Given the description of an element on the screen output the (x, y) to click on. 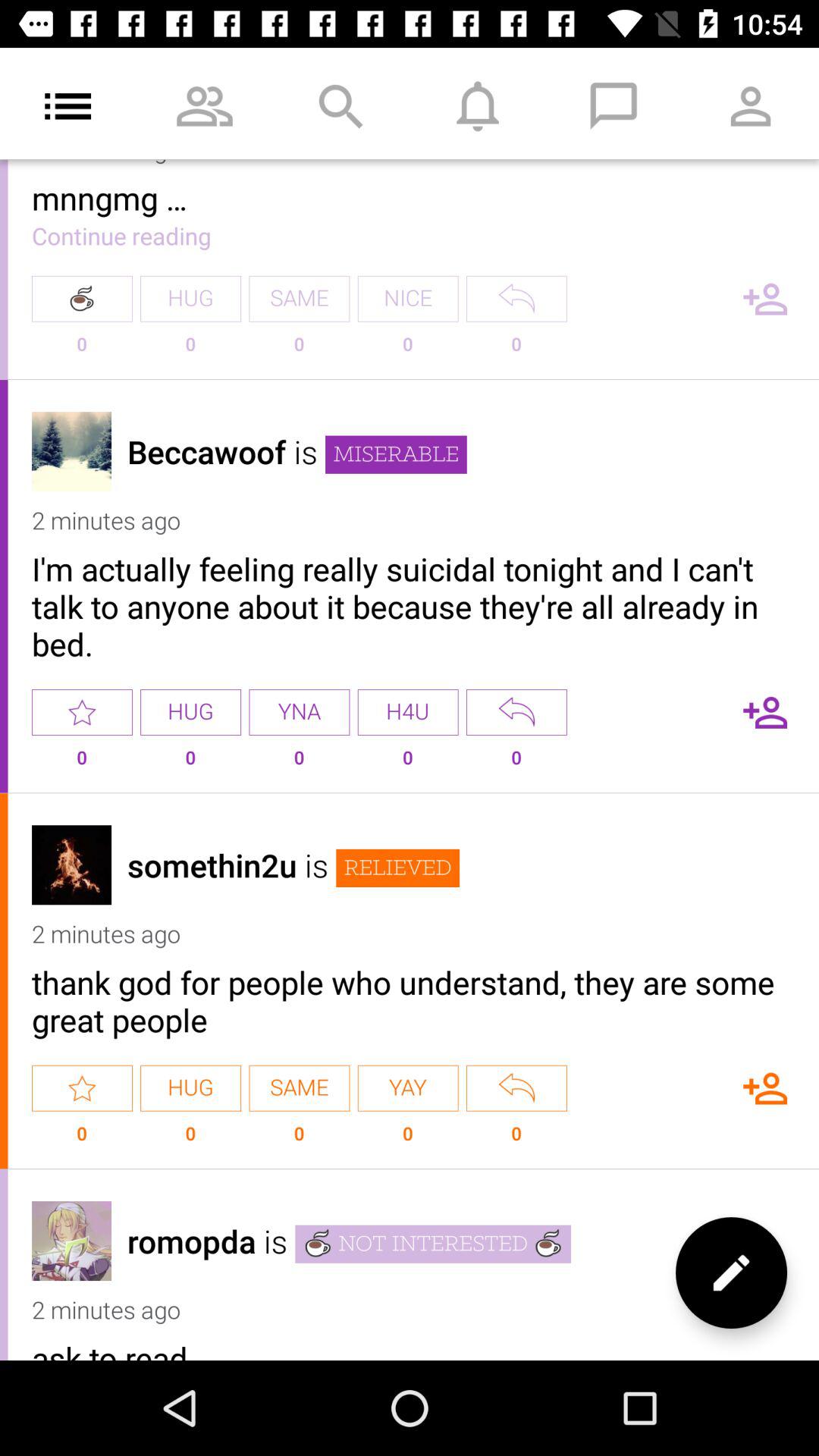
edit (731, 1272)
